Given the description of an element on the screen output the (x, y) to click on. 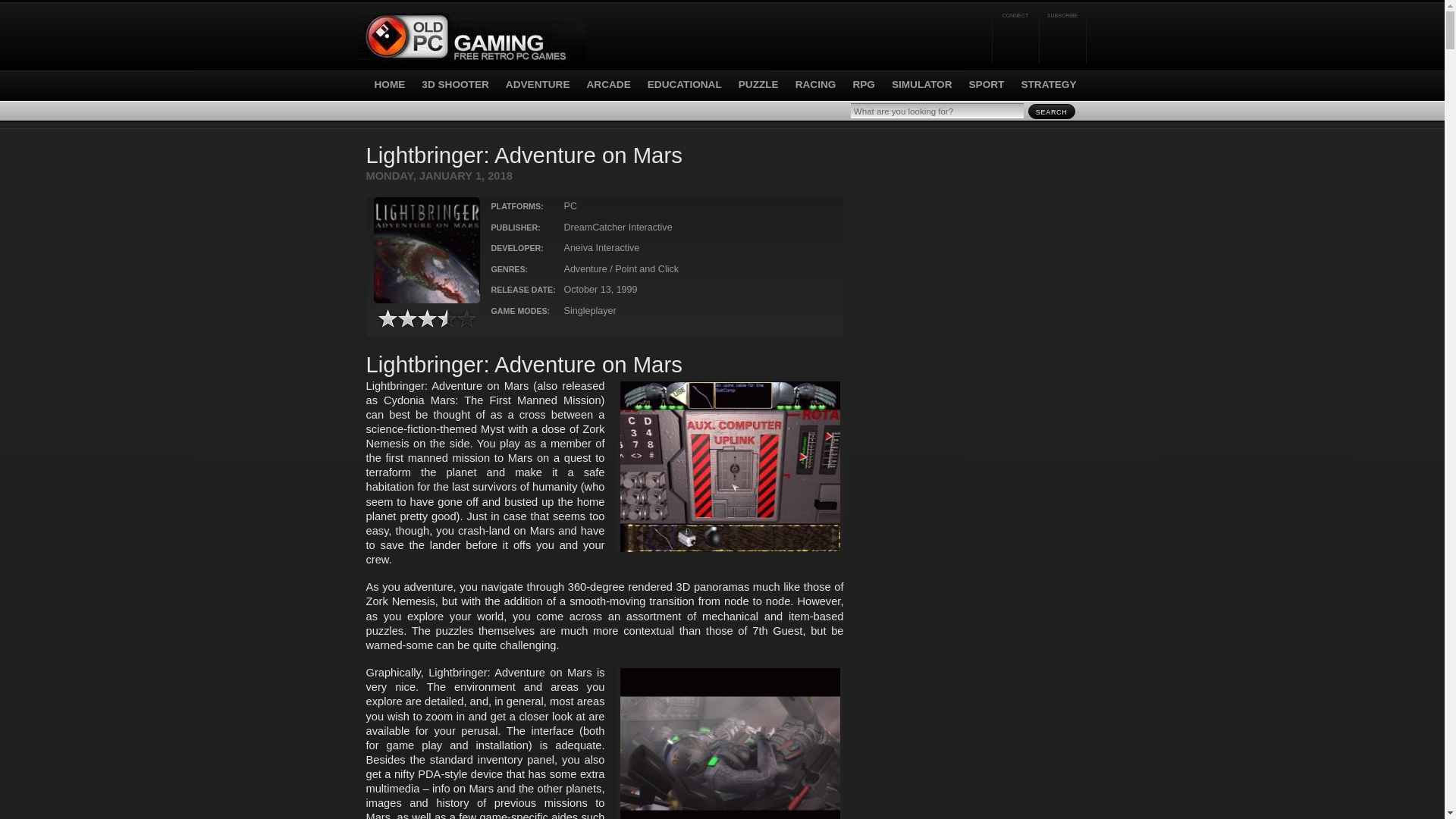
ADVENTURE (537, 84)
Search for: (936, 110)
STRATEGY (1047, 84)
3.5 (425, 317)
HOME (386, 84)
Old PC Gaming (471, 37)
SPORT (986, 84)
SIMULATOR (921, 84)
PUZZLE (758, 84)
EDUCATIONAL (684, 84)
RPG (863, 84)
3D SHOOTER (454, 84)
Lightbringer: Adventure on Mars (425, 250)
RACING (814, 84)
SEARCH (1051, 111)
